Given the description of an element on the screen output the (x, y) to click on. 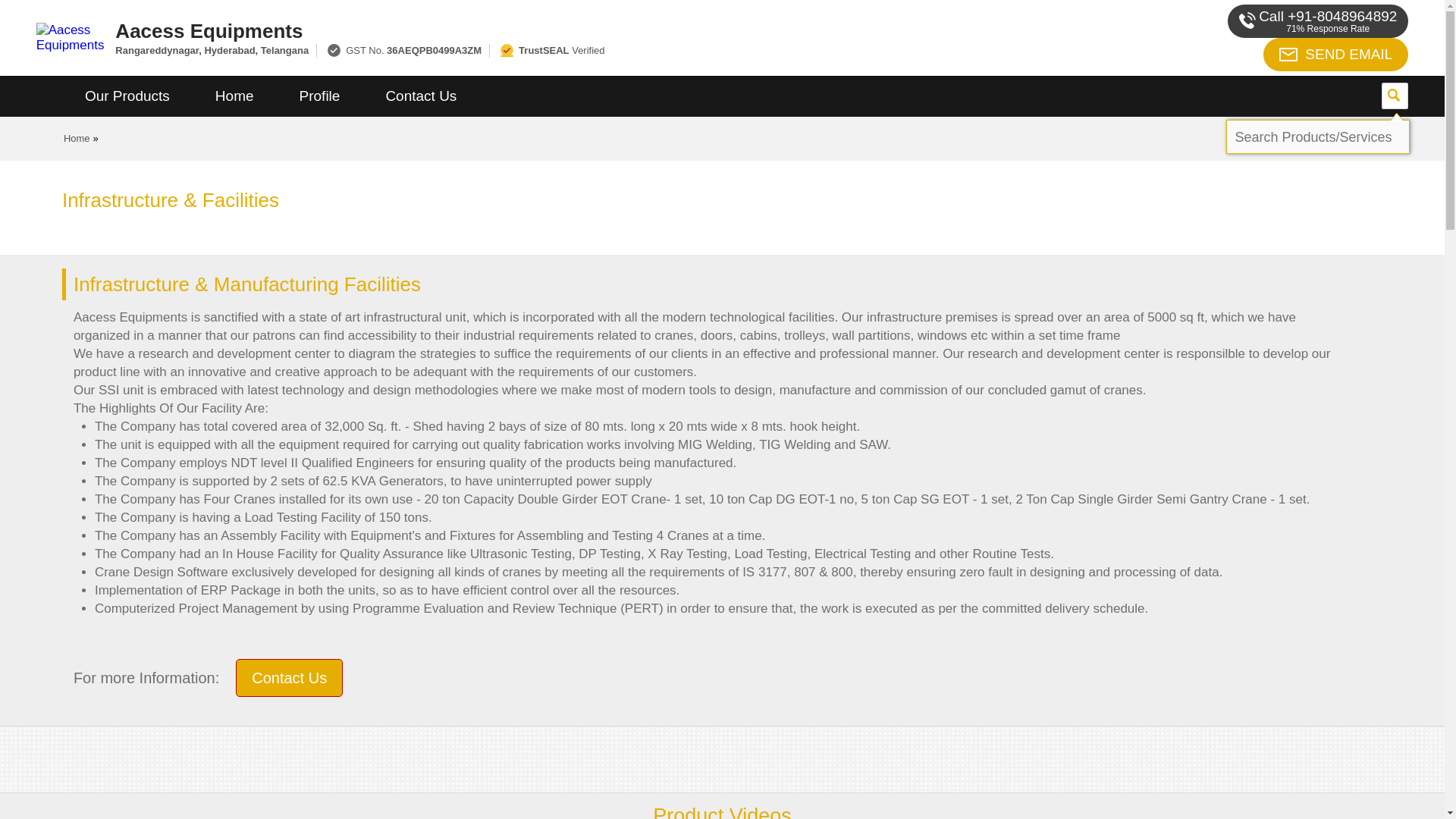
Home (77, 138)
Aacess Equipments (552, 31)
Home (234, 96)
Our Products (127, 96)
Profile (319, 96)
Contact Us (420, 96)
